Given the description of an element on the screen output the (x, y) to click on. 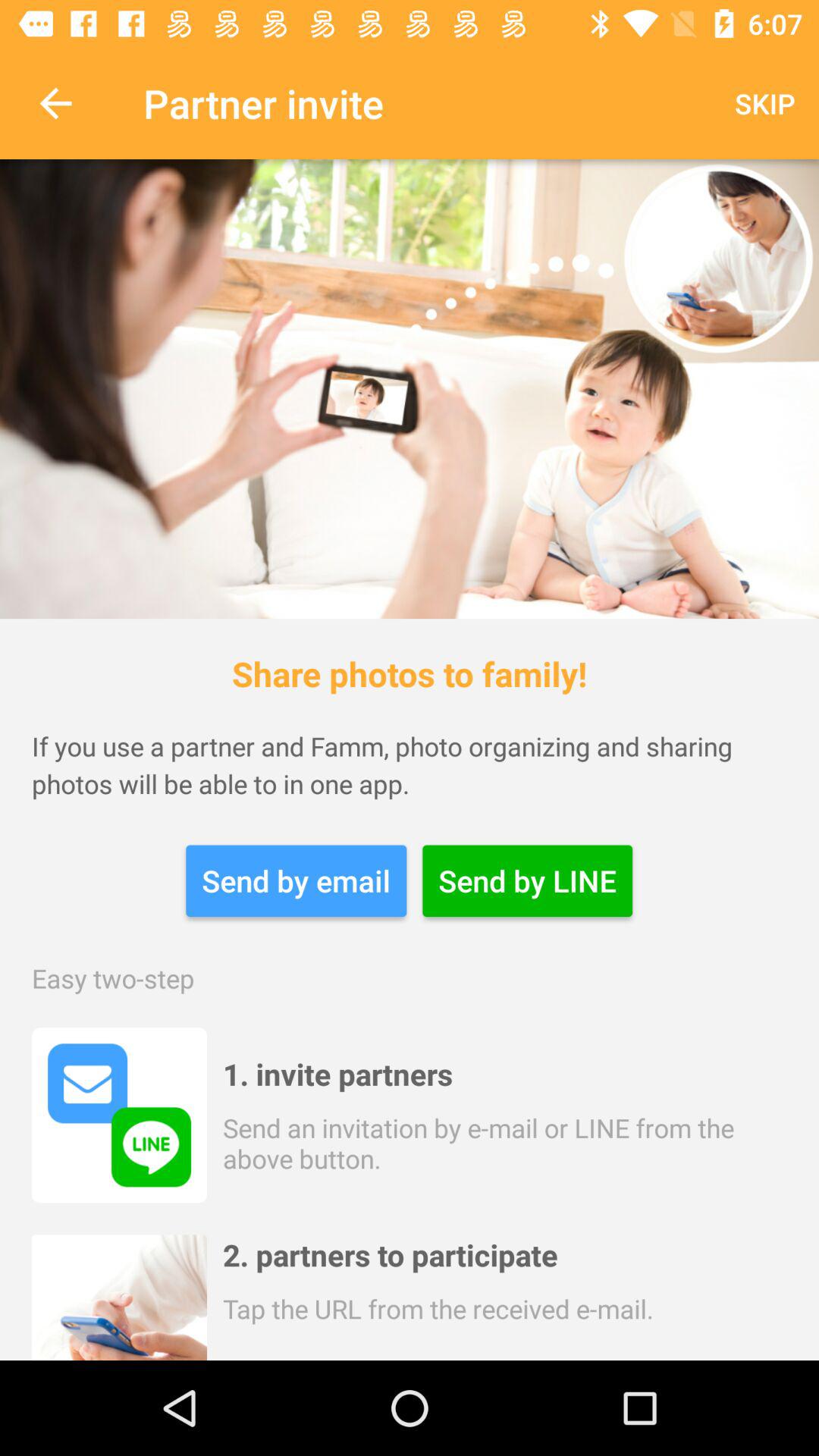
press the skip icon (764, 103)
